Given the description of an element on the screen output the (x, y) to click on. 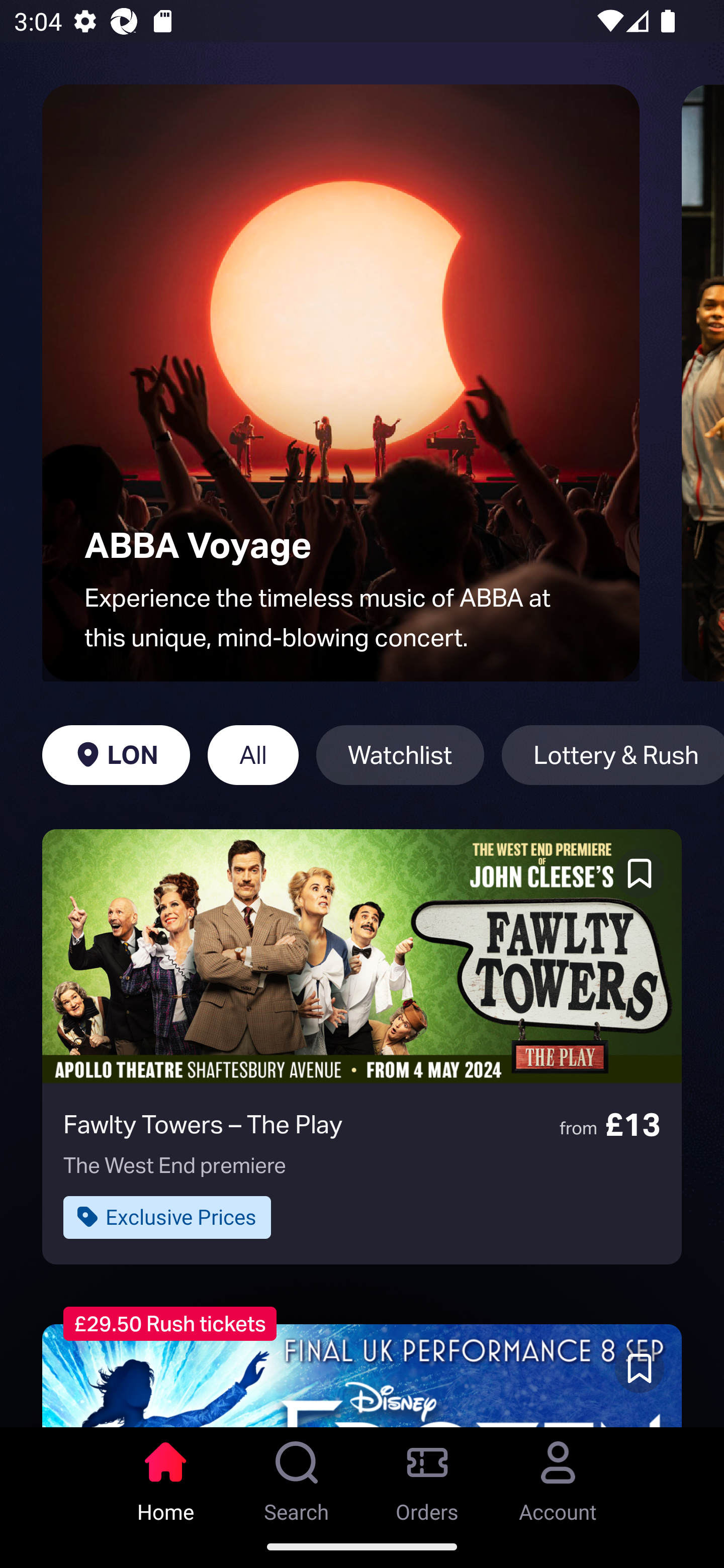
LON (115, 754)
All (252, 754)
Watchlist (400, 754)
Lottery & Rush (612, 754)
Search (296, 1475)
Orders (427, 1475)
Account (558, 1475)
